Given the description of an element on the screen output the (x, y) to click on. 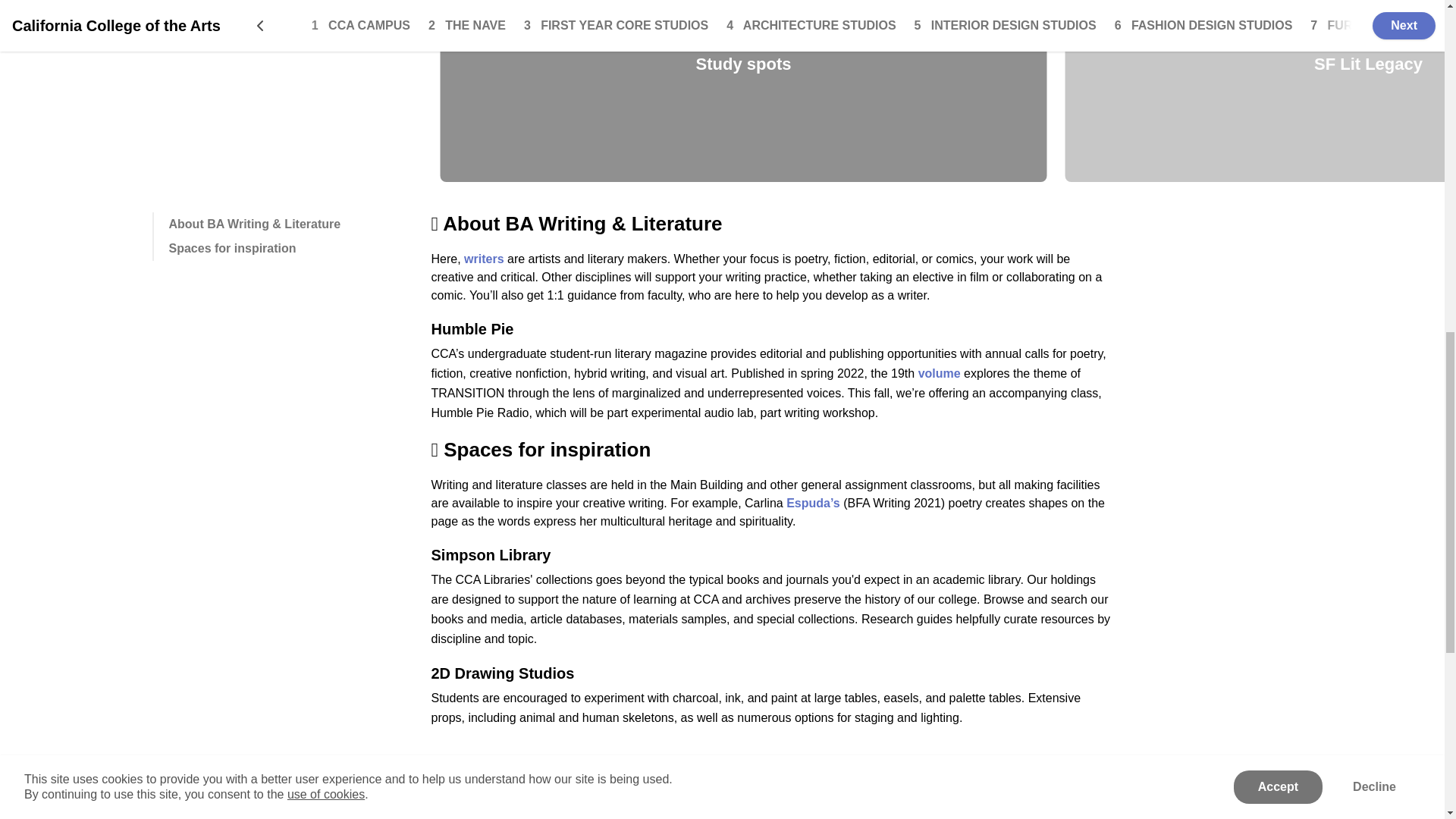
volume (939, 373)
click to open item in gallery (742, 90)
writers (483, 258)
